Given the description of an element on the screen output the (x, y) to click on. 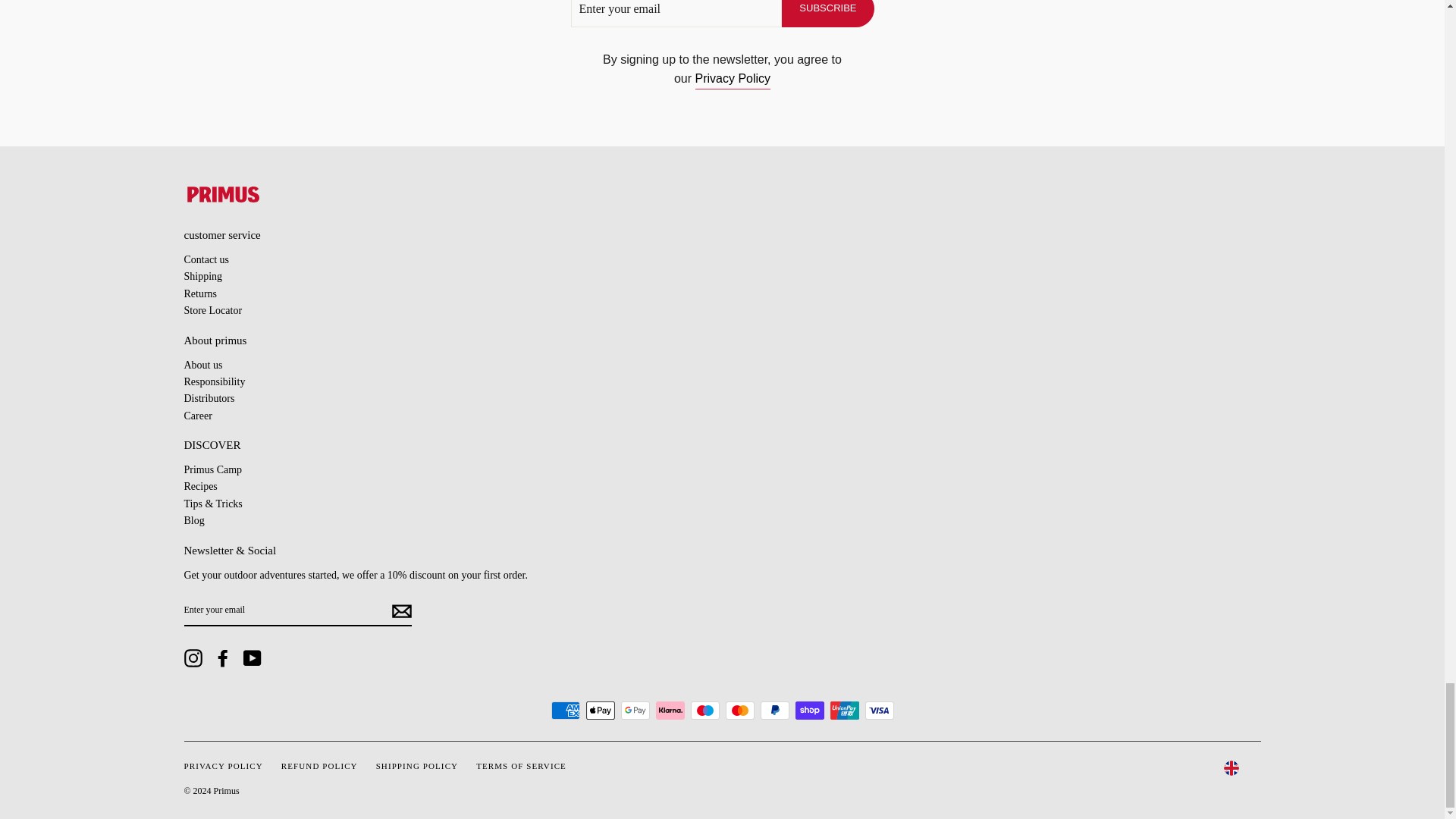
Primus on Instagram (192, 658)
Mastercard (739, 710)
Klarna (669, 710)
Maestro (704, 710)
Primus History (202, 365)
Refund Policy (199, 302)
PayPal (774, 710)
Apple Pay (599, 710)
Primus Contact (205, 267)
Primus on YouTube (251, 658)
